Given the description of an element on the screen output the (x, y) to click on. 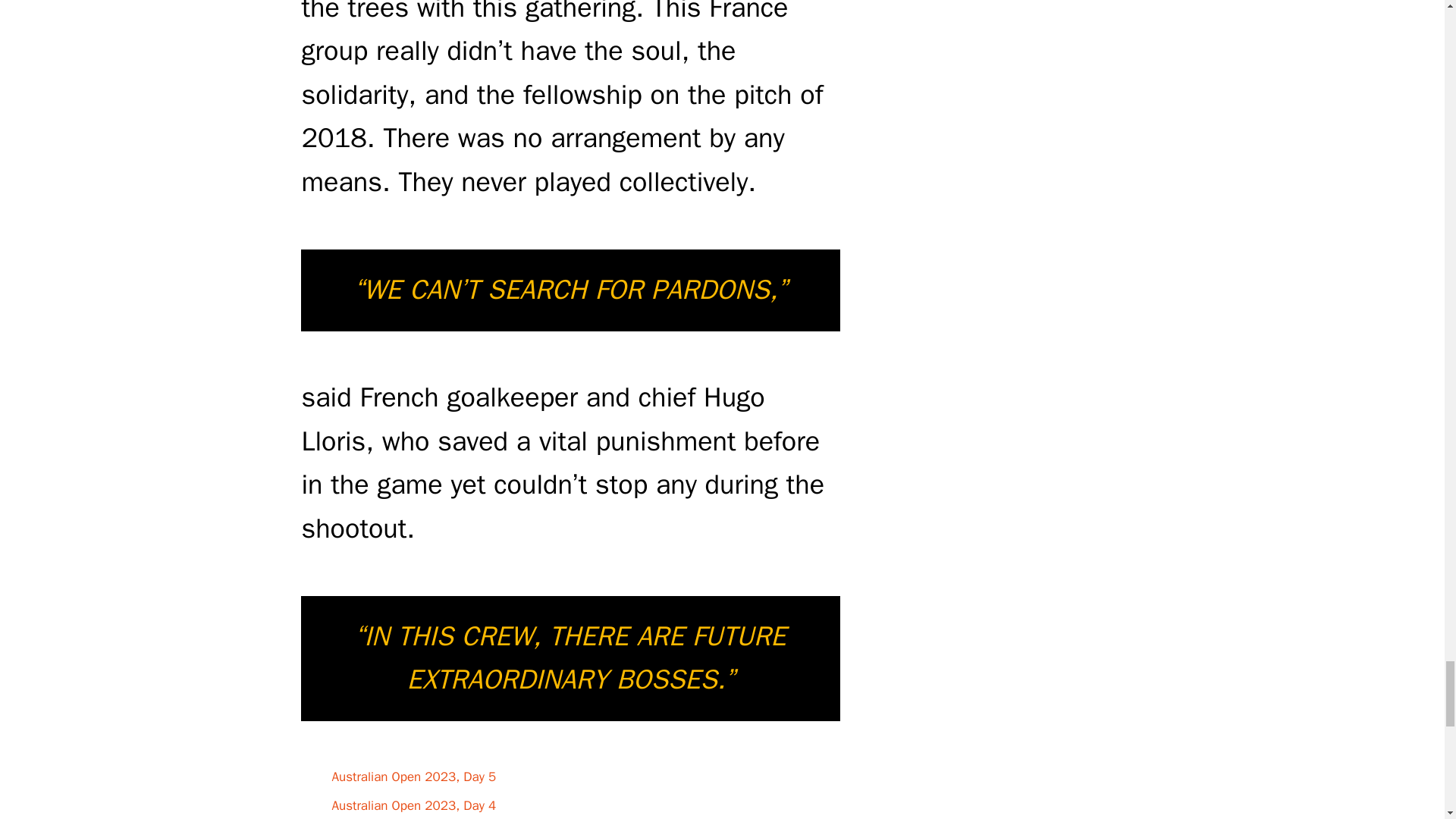
Australian Open 2023, Day 5 (413, 776)
Australian Open 2023, Day 4 (413, 805)
